Given the description of an element on the screen output the (x, y) to click on. 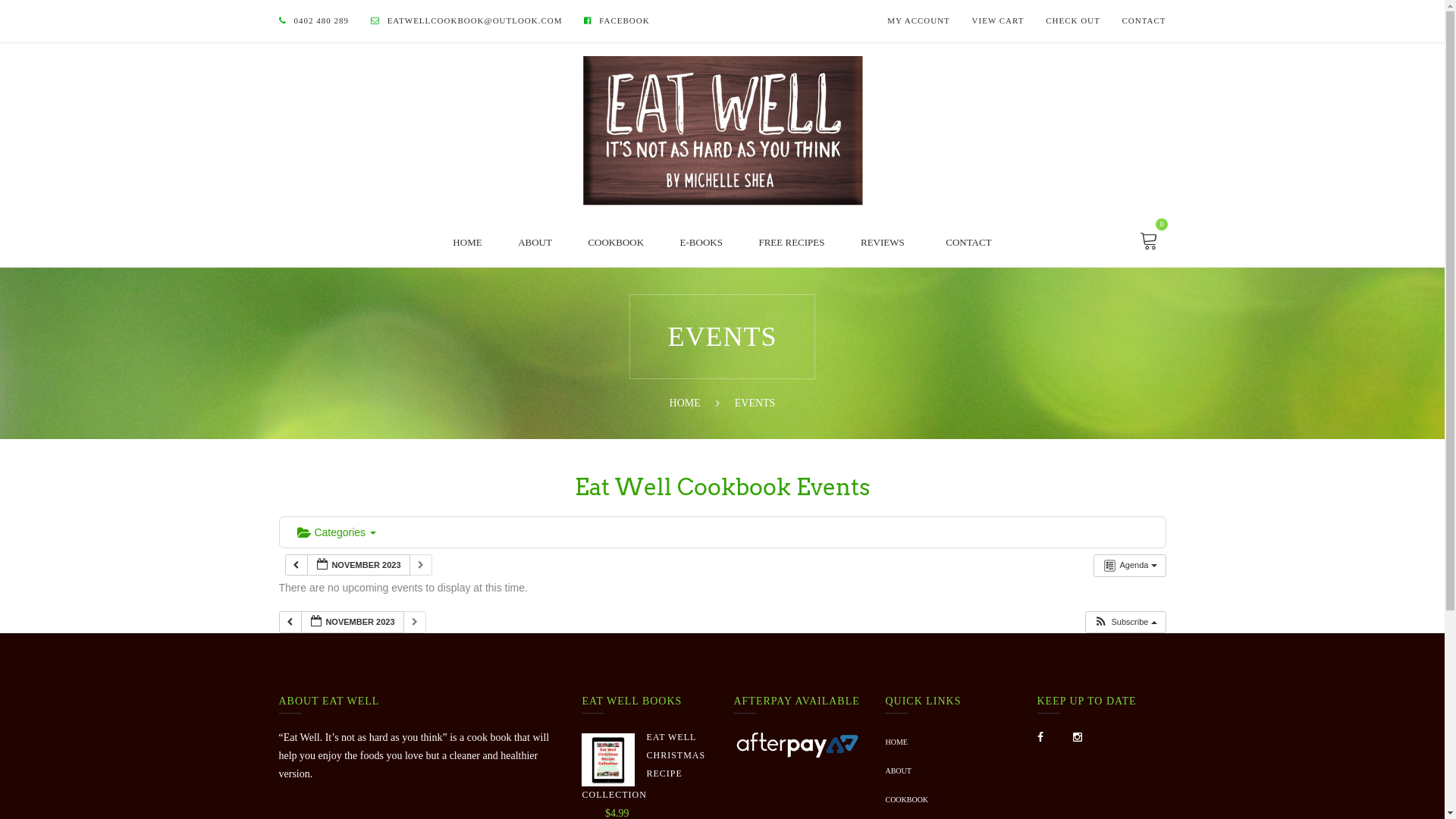
HOME Element type: text (895, 742)
FREE RECIPES Element type: text (790, 242)
Categories Element type: text (335, 532)
EATWELLCOOKBOOK@OUTLOOK.COM Element type: text (474, 21)
COOKBOOK Element type: text (615, 242)
CONTACT Element type: text (1144, 21)
E-BOOKS Element type: text (701, 242)
CONTACT Element type: text (967, 242)
Cookbook & E-book Available Element type: hover (722, 129)
ABOUT Element type: text (897, 771)
FACEBOOK Element type: text (624, 21)
HOME Element type: text (684, 402)
EAT WELL CHRISTMAS RECIPE COLLECTION Element type: text (645, 766)
Instagram Element type: hover (1077, 737)
REVIEWS Element type: text (882, 242)
VIEW CART Element type: text (998, 21)
Facebook Element type: hover (1040, 737)
HOME Element type: text (467, 242)
COOKBOOK Element type: text (906, 799)
NOVEMBER 2023 Element type: text (351, 622)
CHECK OUT Element type: text (1072, 21)
0 Element type: text (1148, 242)
Agenda Element type: text (1129, 565)
MY ACCOUNT Element type: text (918, 21)
ABOUT Element type: text (534, 242)
NOVEMBER 2023 Element type: text (357, 565)
